Given the description of an element on the screen output the (x, y) to click on. 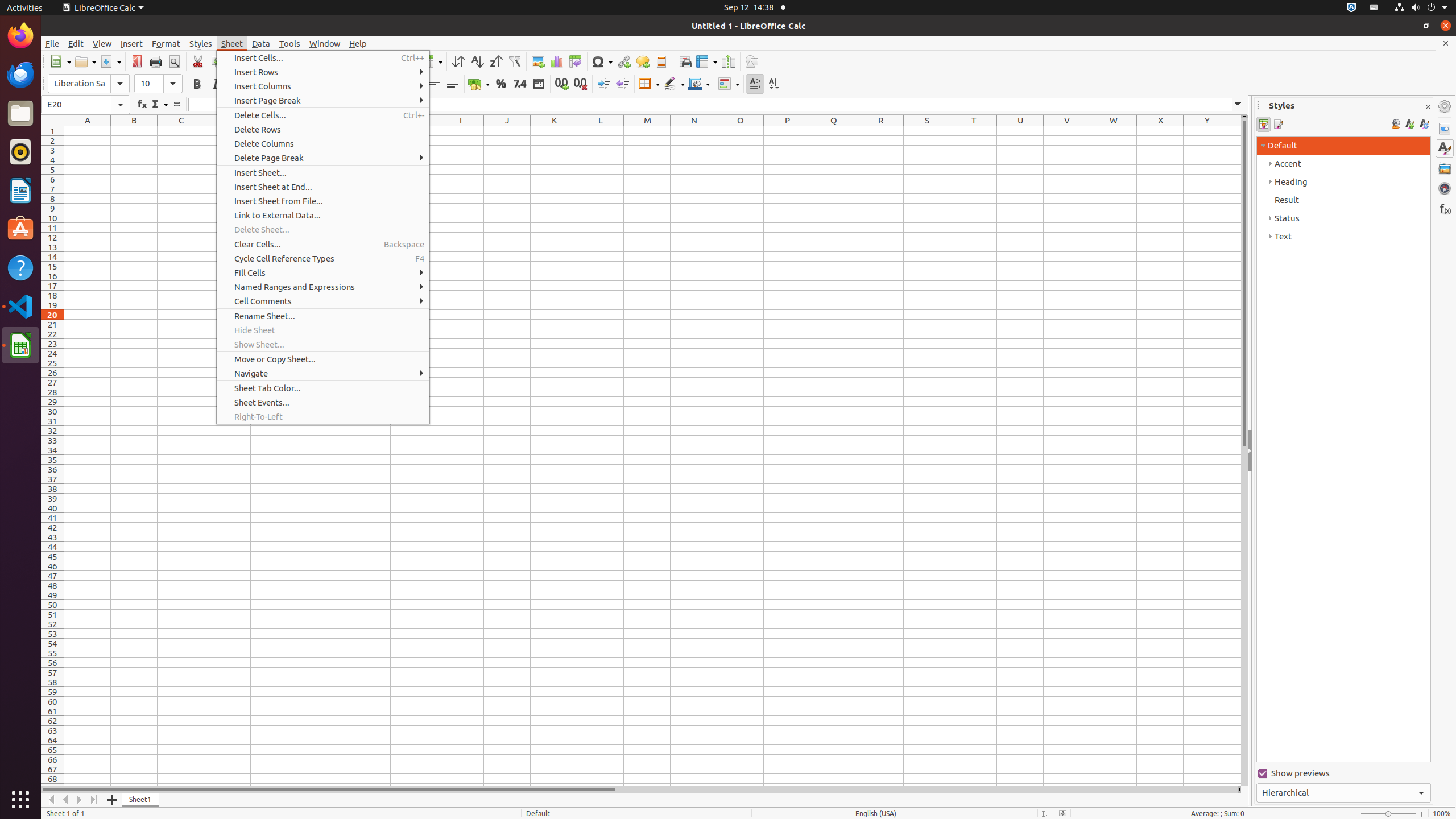
Close Sidebar Deck Element type: push-button (1427, 106)
Comment Element type: push-button (642, 61)
R1 Element type: table-cell (880, 130)
Insert Sheet from File... Element type: menu-item (322, 200)
Show Sheet... Element type: menu-item (322, 344)
